Given the description of an element on the screen output the (x, y) to click on. 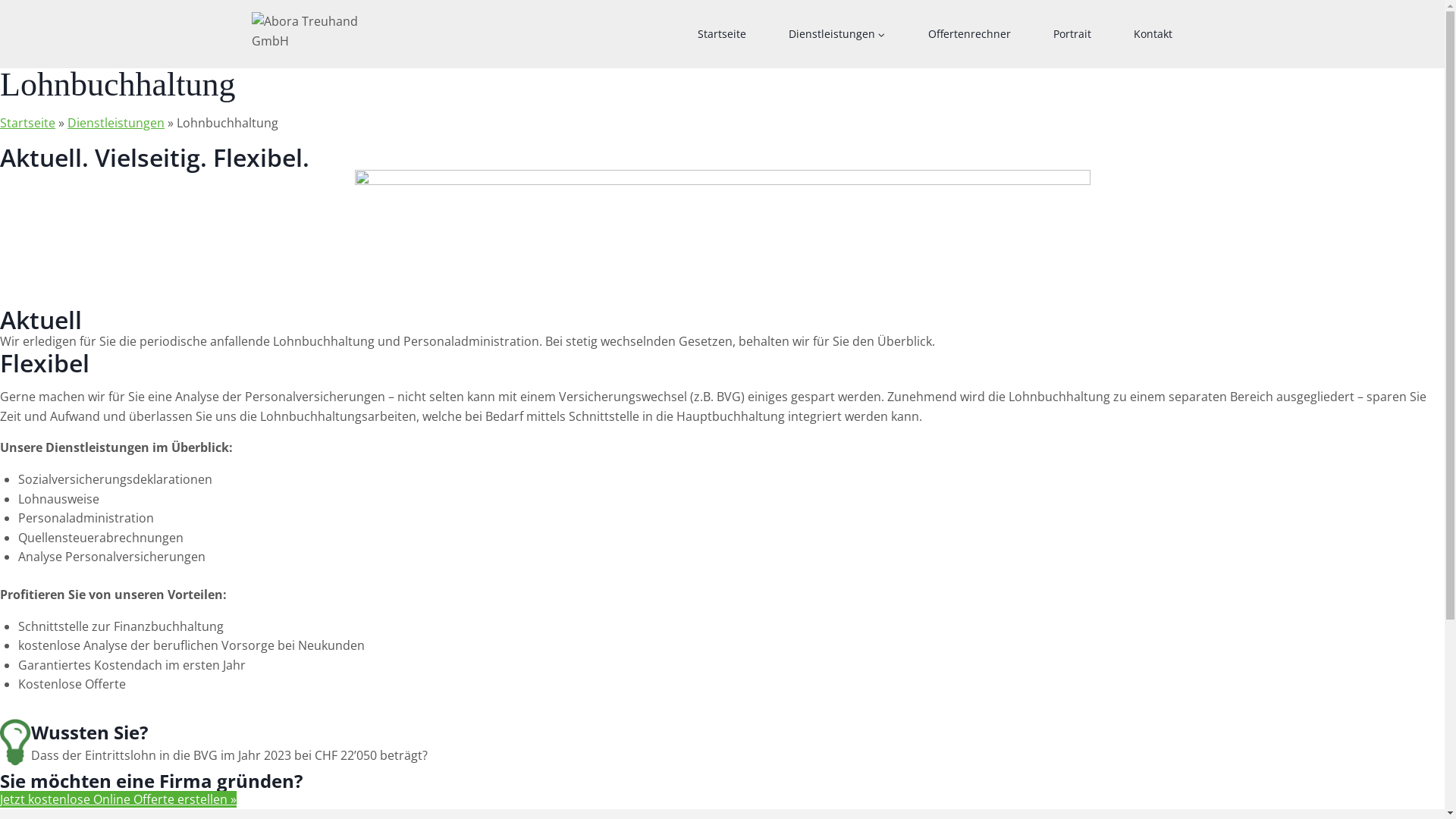
Startseite Element type: text (721, 34)
Offertenrechner Element type: text (969, 34)
Dienstleistungen Element type: text (115, 122)
Kontakt Element type: text (1151, 34)
Startseite Element type: text (27, 122)
Dienstleistungen Element type: text (836, 34)
Portrait Element type: text (1071, 34)
